Given the description of an element on the screen output the (x, y) to click on. 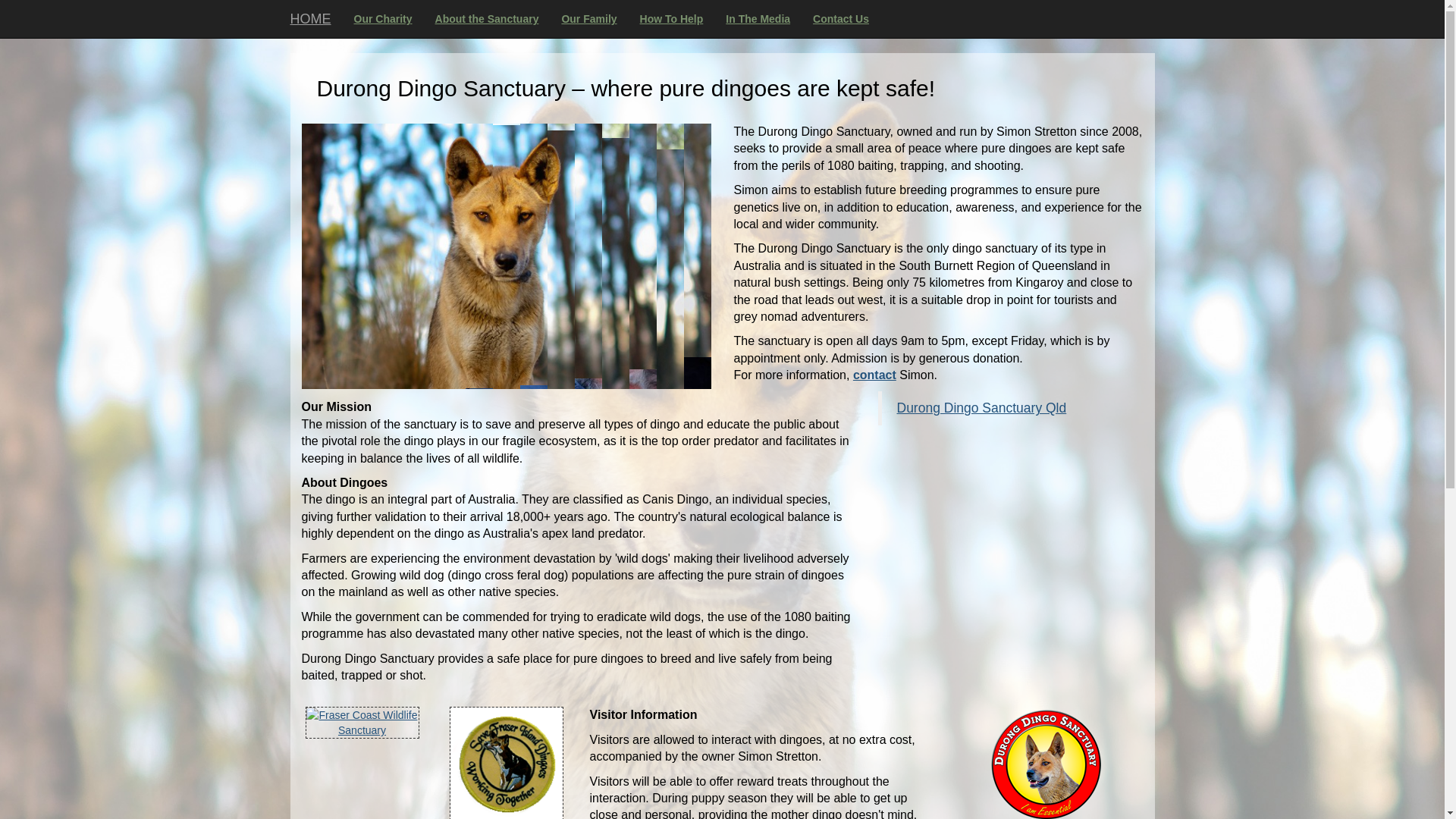
Link to Fraser Coast Wildlife Sanctuary Element type: hover (361, 722)
header4 Element type: hover (506, 256)
About the Sanctuary Element type: text (486, 18)
Our Charity Element type: text (382, 18)
In The Media Element type: text (757, 18)
Our Family Element type: text (588, 18)
Contact Us Element type: text (840, 18)
HOME Element type: text (310, 18)
How To Help Element type: text (671, 18)
contact Element type: text (874, 374)
Durong Dingo Sanctuary Qld Element type: text (981, 407)
